Given the description of an element on the screen output the (x, y) to click on. 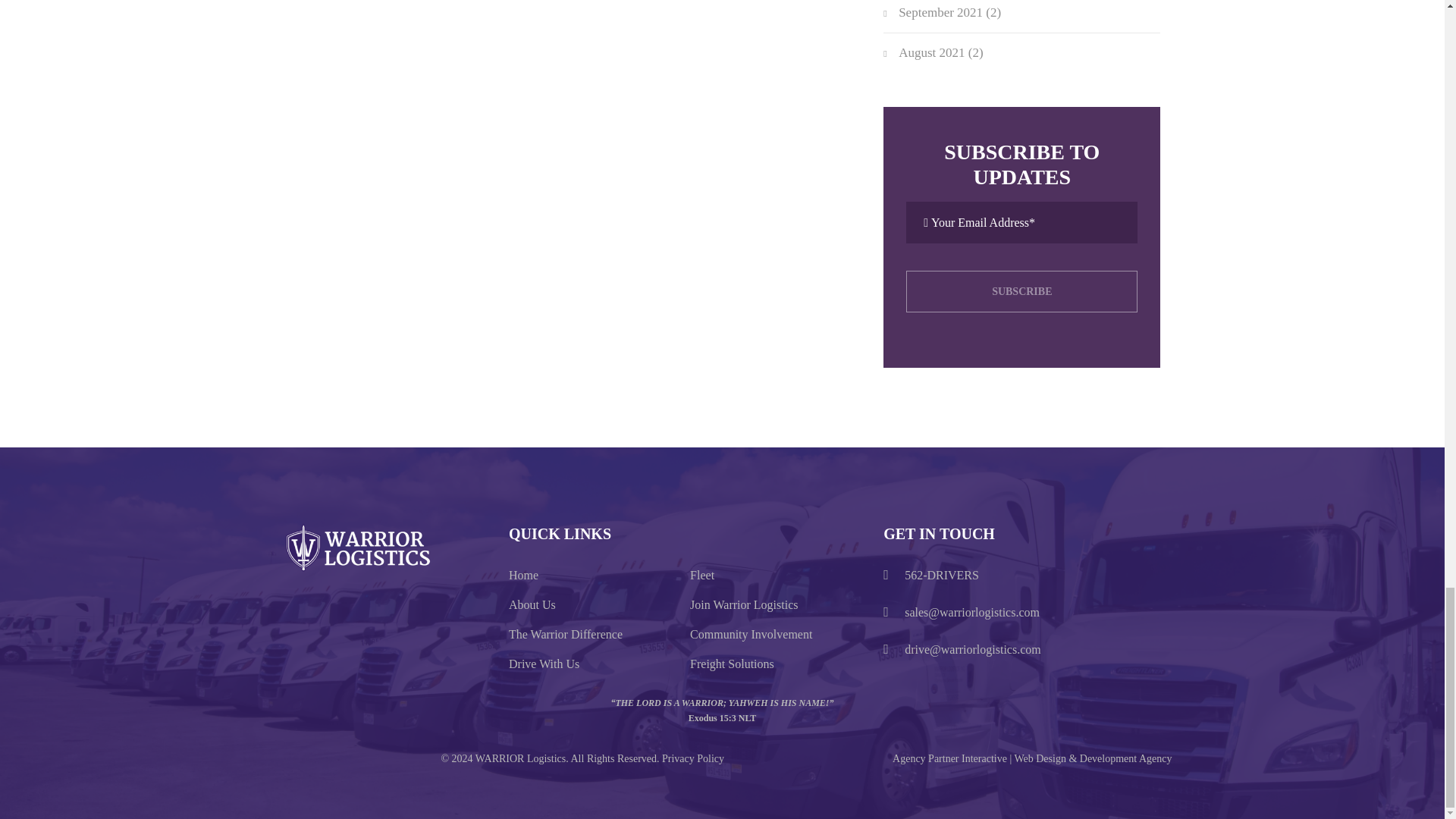
subscribe (1021, 291)
